Given the description of an element on the screen output the (x, y) to click on. 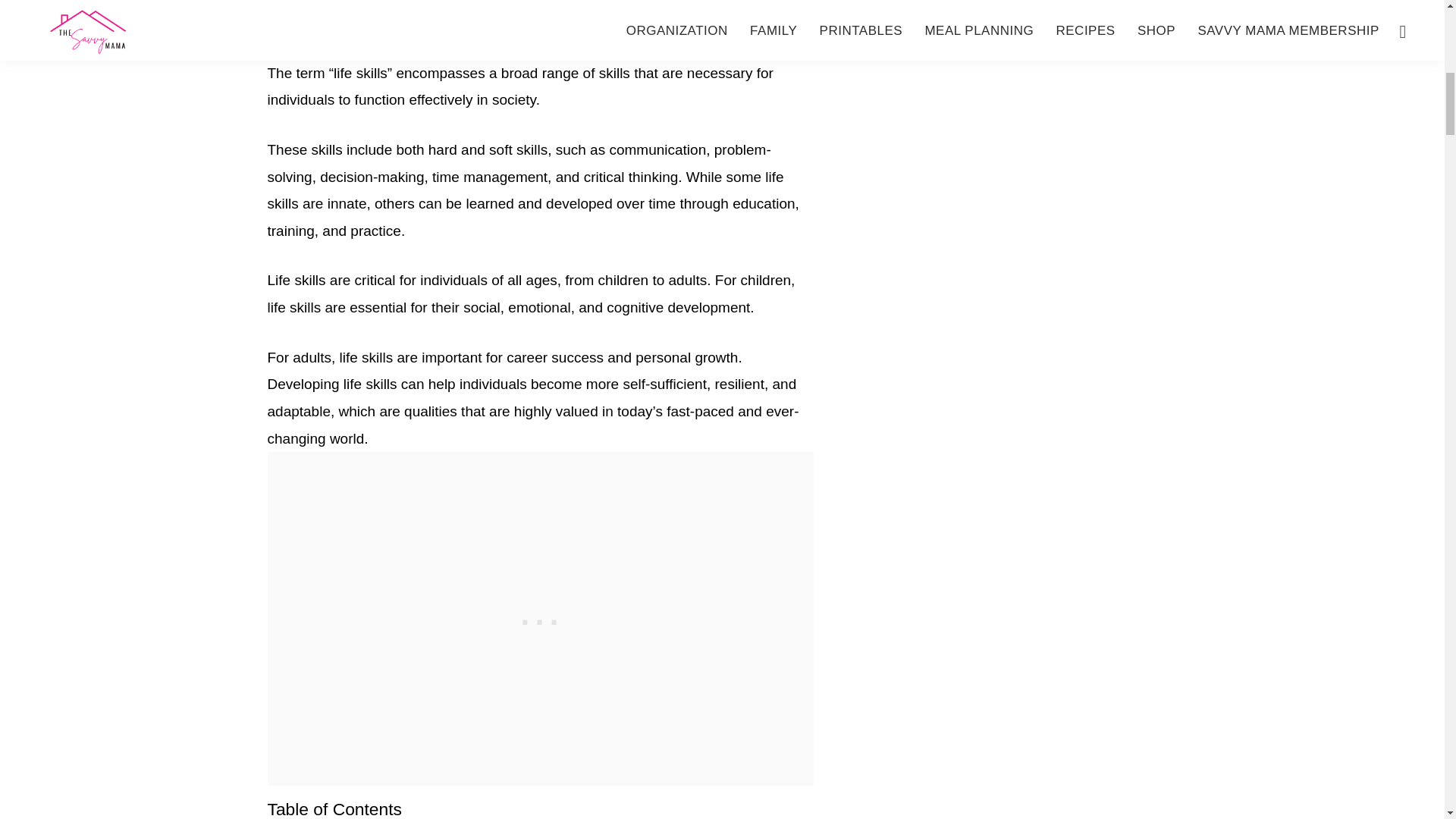
Save to Pinterest (345, 6)
Share on Facebook (513, 6)
Send over email (681, 6)
Email (681, 6)
Facebook (513, 6)
how we make money (657, 33)
Pinterest (345, 6)
